Given the description of an element on the screen output the (x, y) to click on. 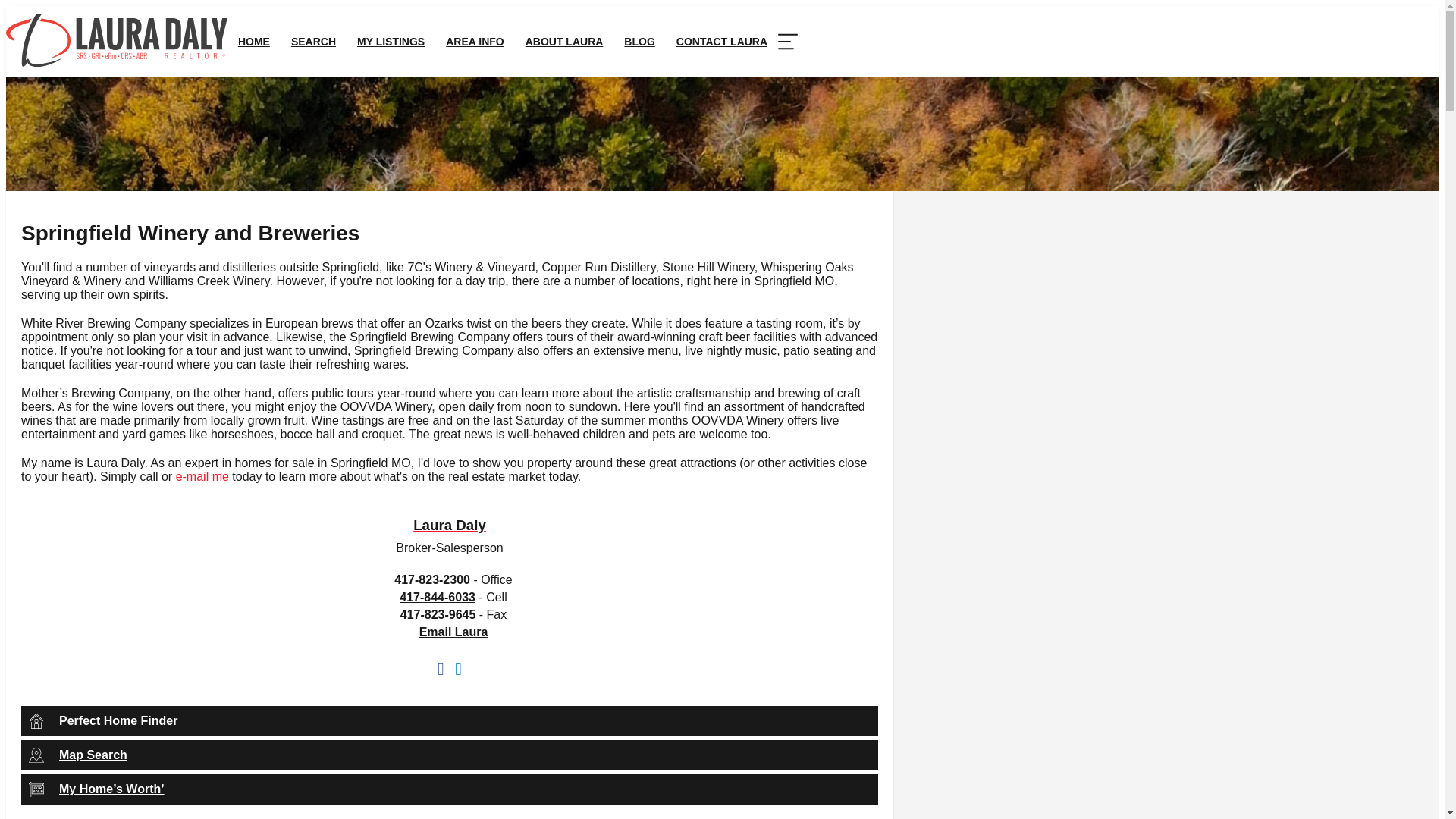
Search (313, 41)
AREA INFO (474, 41)
HOME (254, 41)
Area Info (474, 41)
My Listings (390, 41)
ABOUT LAURA (564, 41)
MY LISTINGS (390, 41)
SEARCH (313, 41)
BLOG (638, 41)
CONTACT LAURA (721, 41)
Home (254, 41)
